Given the description of an element on the screen output the (x, y) to click on. 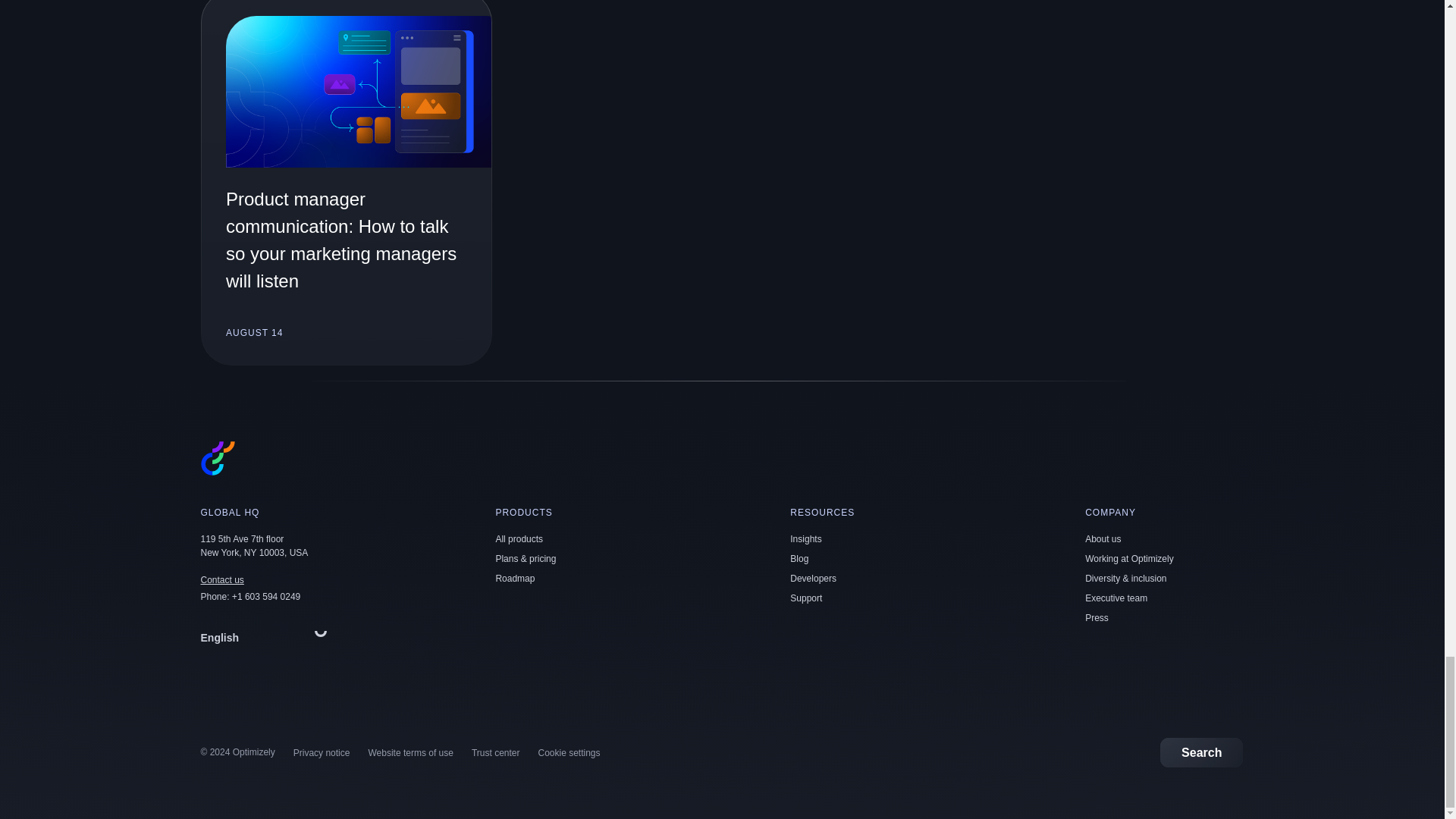
Press (1096, 617)
About us (1102, 538)
Blog (799, 558)
Developers (812, 578)
Roadmap (514, 578)
English (266, 637)
Executive team (1115, 597)
Working at Optimizely (1128, 558)
Contact us (221, 580)
All products (519, 538)
